Given the description of an element on the screen output the (x, y) to click on. 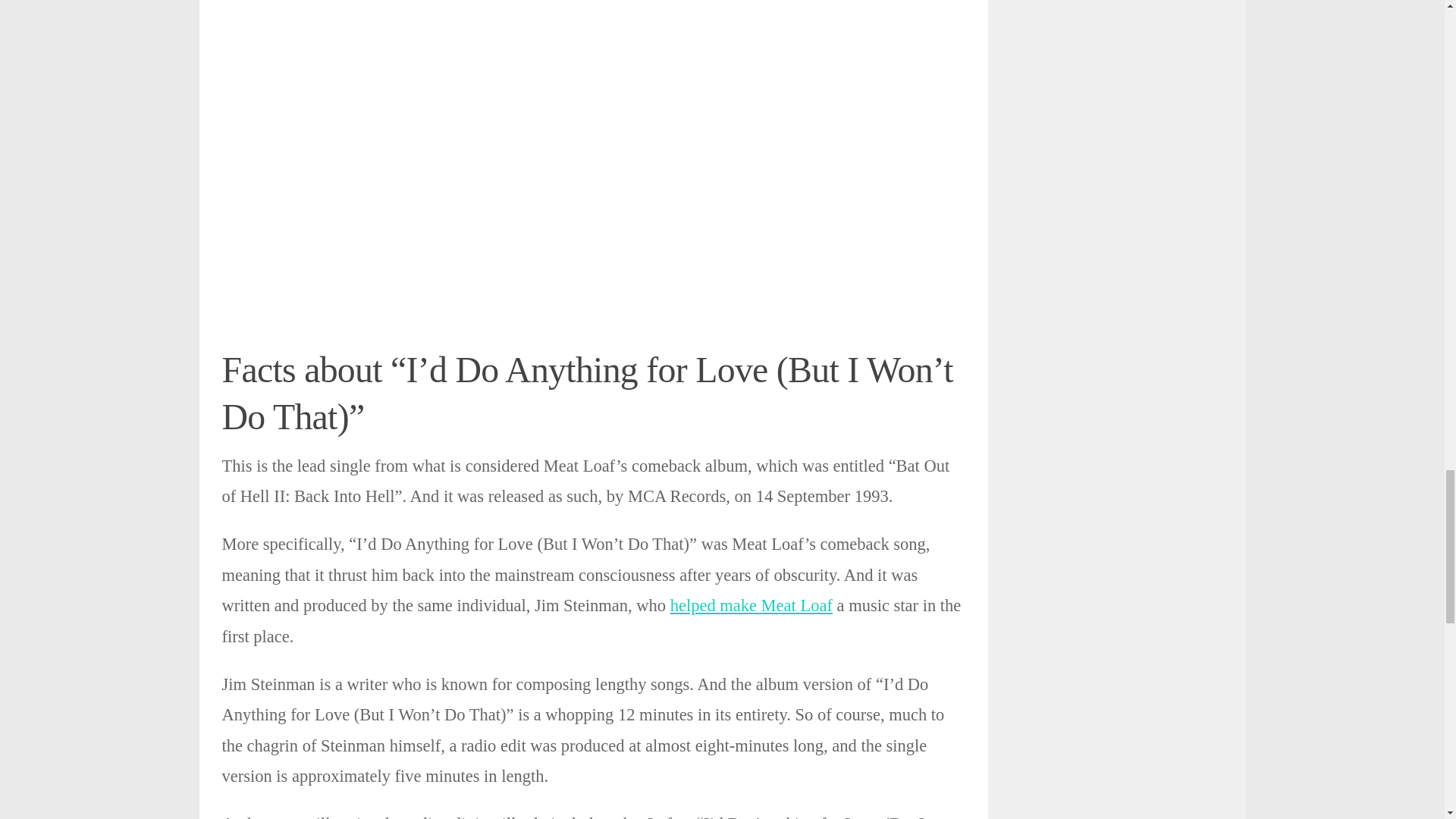
helped make Meat Loaf (750, 605)
